Given the description of an element on the screen output the (x, y) to click on. 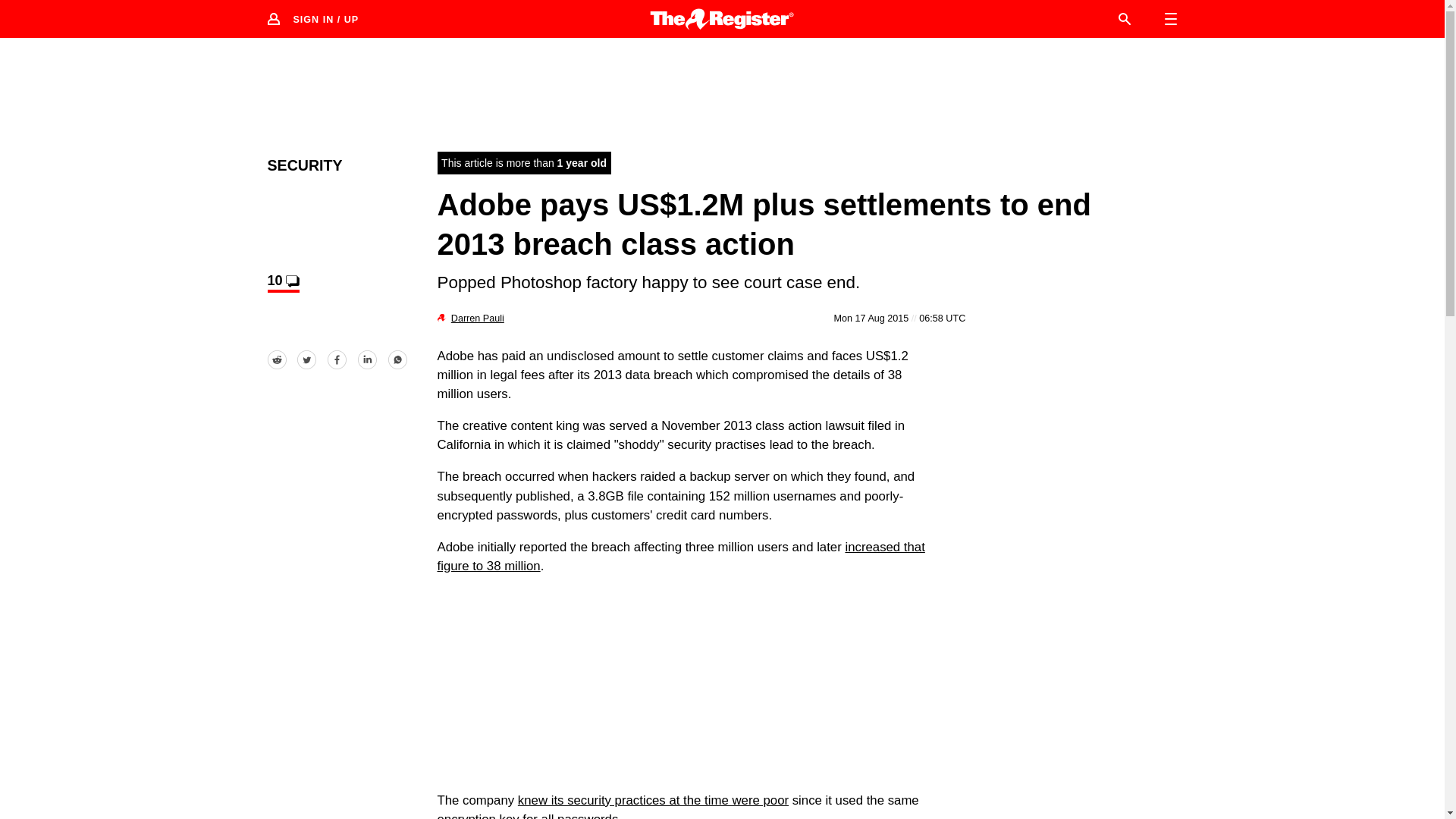
Read more by this author (477, 318)
View comments on this article (282, 282)
